Given the description of an element on the screen output the (x, y) to click on. 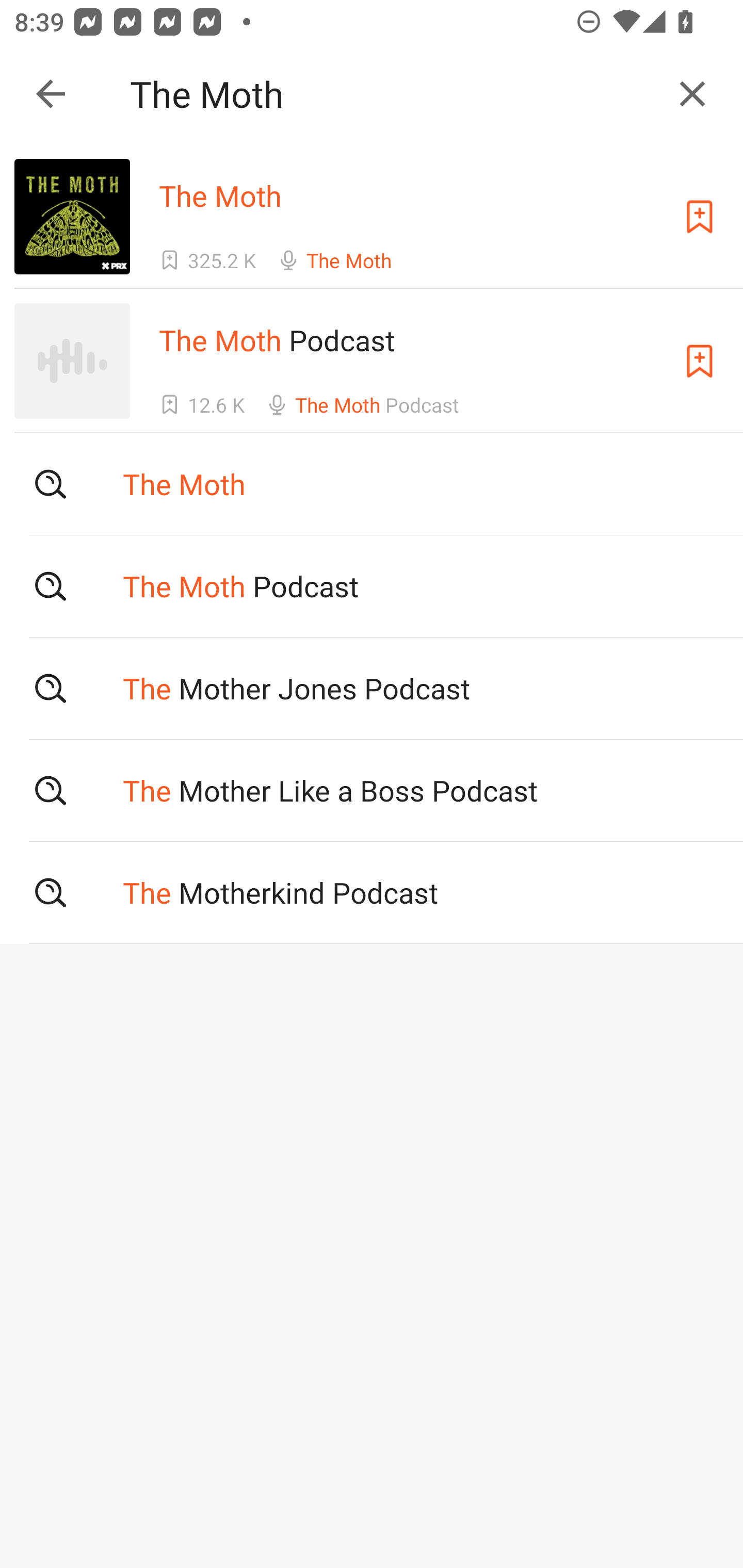
Collapse (50, 93)
Clear query (692, 93)
The Moth (393, 94)
The Moth The Moth  325.2 K  The Moth Subscribe (371, 216)
Subscribe (699, 216)
Subscribe (699, 360)
 The Moth (371, 483)
 The Moth Podcast (371, 585)
 The Mother Jones Podcast (371, 688)
 The Mother Like a Boss Podcast (371, 791)
 The Motherkind Podcast (371, 892)
